Given the description of an element on the screen output the (x, y) to click on. 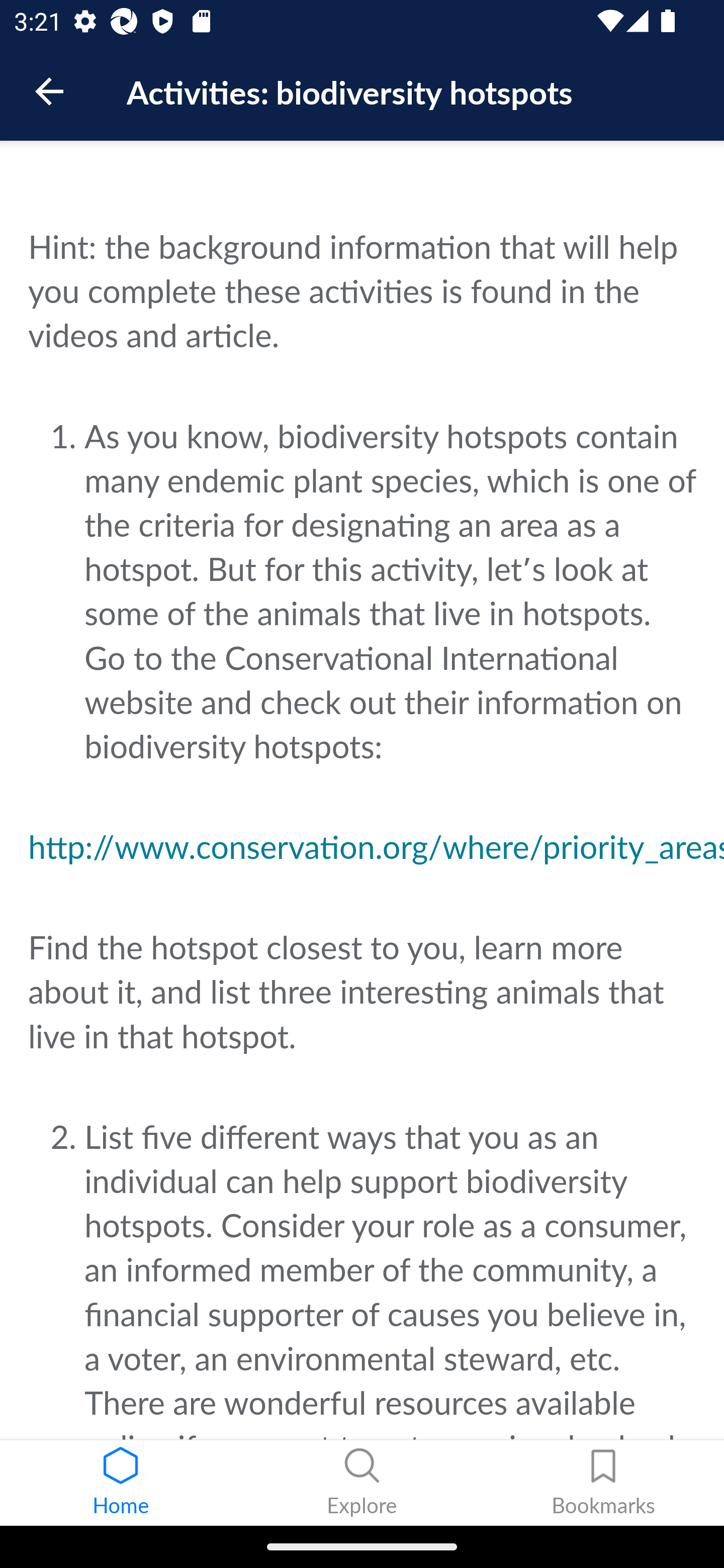
Navigate up (49, 91)
Home (120, 1482)
Explore (361, 1482)
Bookmarks (603, 1482)
